Given the description of an element on the screen output the (x, y) to click on. 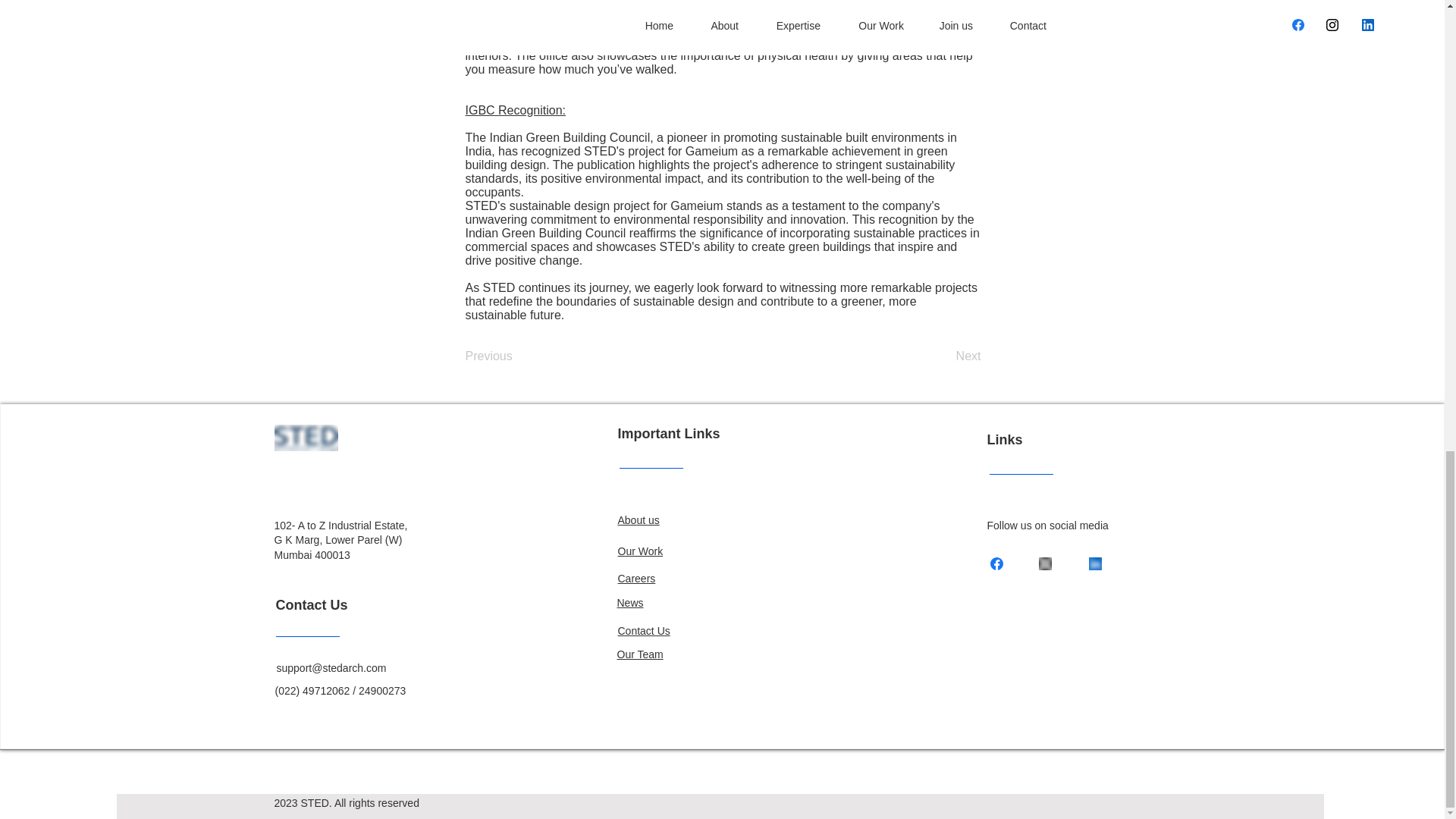
About us (638, 520)
Careers (636, 578)
Our Team (640, 654)
Contact Us (643, 630)
News (630, 603)
Next (943, 357)
Our Work (639, 551)
Previous (515, 357)
